Given the description of an element on the screen output the (x, y) to click on. 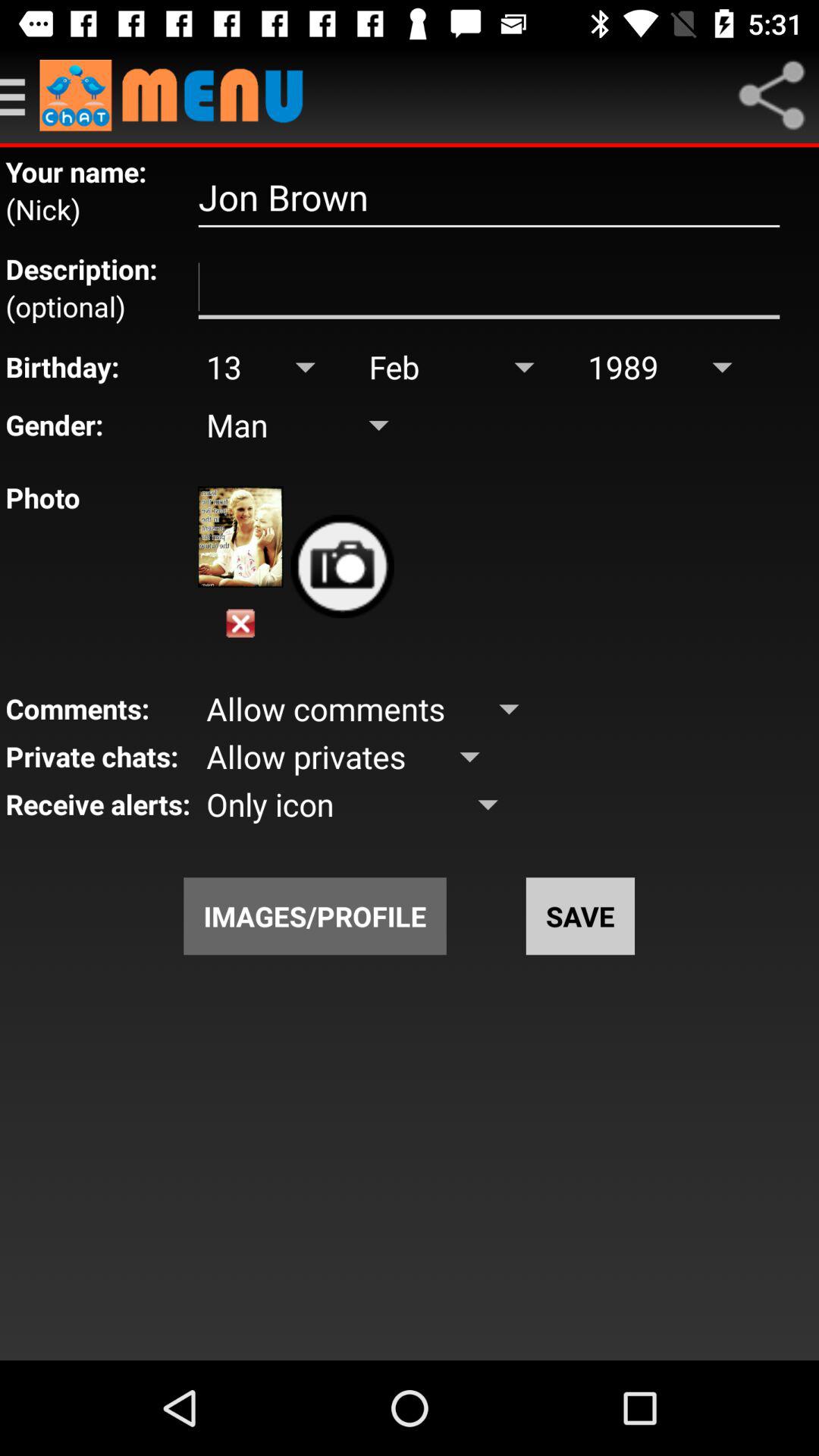
toggle menu (19, 95)
